Given the description of an element on the screen output the (x, y) to click on. 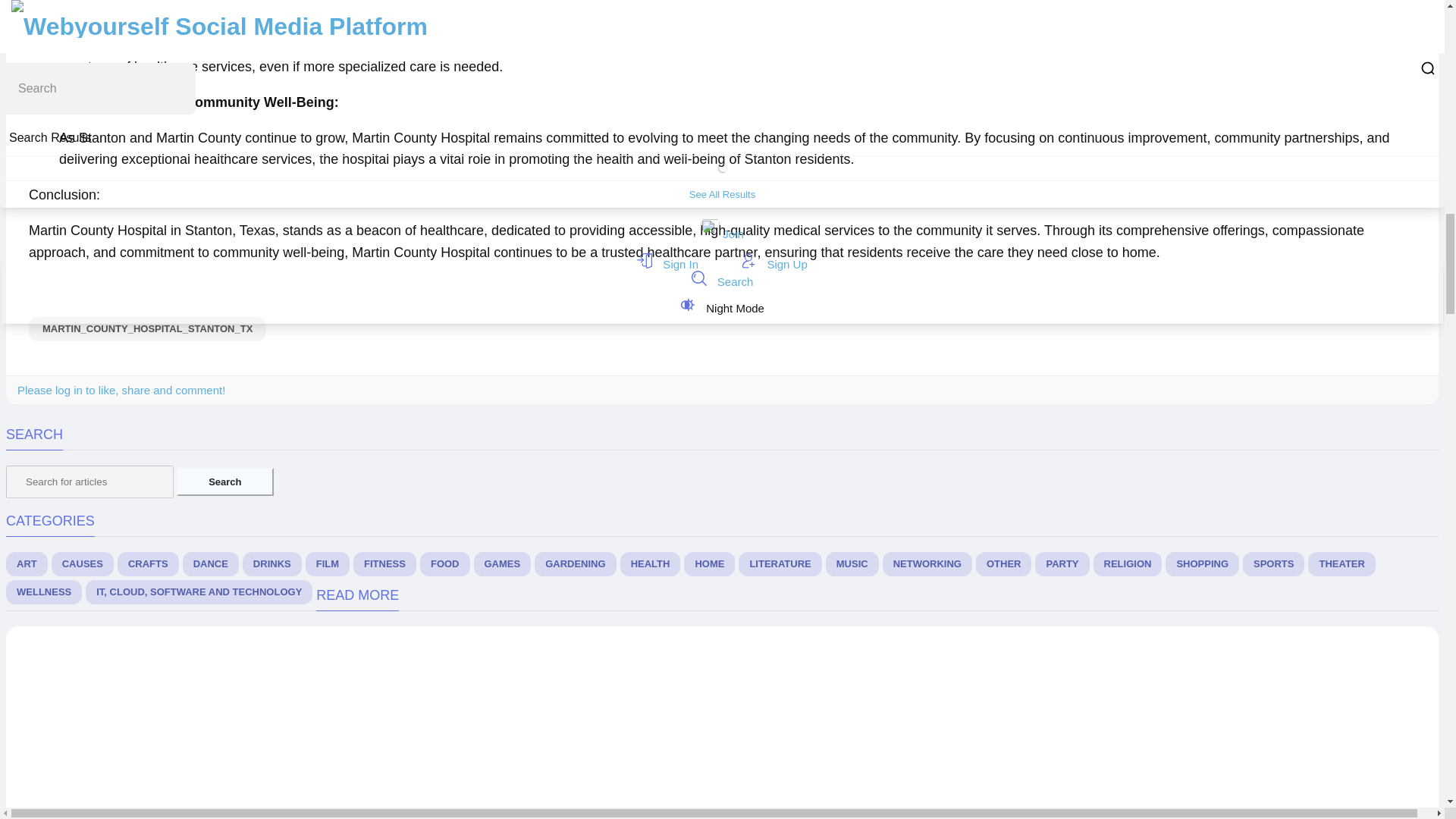
LITERATURE (779, 564)
HOME (709, 564)
FITNESS (384, 564)
GARDENING (574, 564)
Please log in to like, share and comment! (121, 390)
FILM (327, 564)
CRAFTS (148, 564)
ART (26, 564)
FOOD (445, 564)
DRINKS (272, 564)
DANCE (210, 564)
Search (224, 481)
CAUSES (81, 564)
GAMES (502, 564)
HEALTH (650, 564)
